Given the description of an element on the screen output the (x, y) to click on. 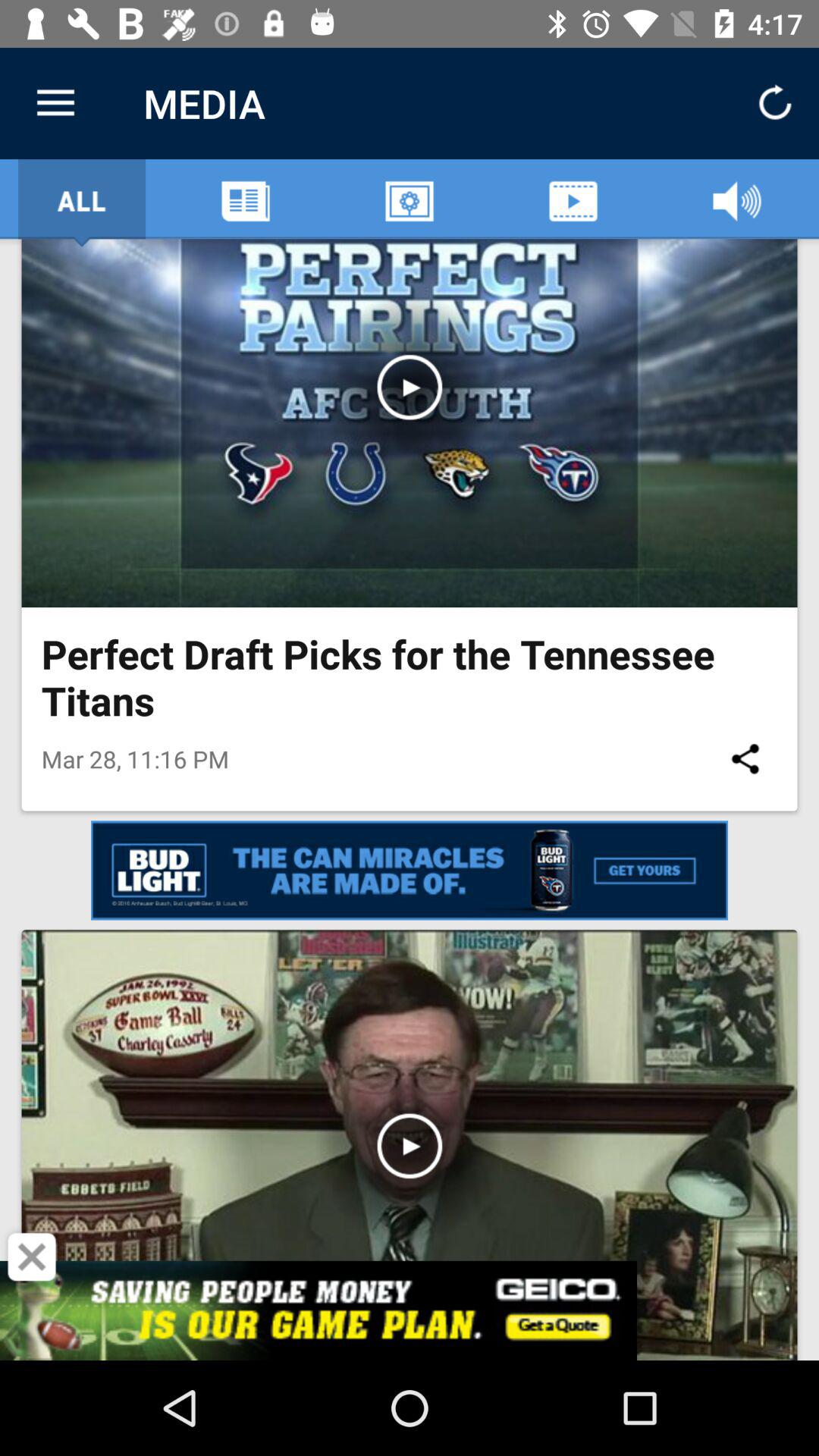
turn on icon below perfect draft picks (745, 758)
